Given the description of an element on the screen output the (x, y) to click on. 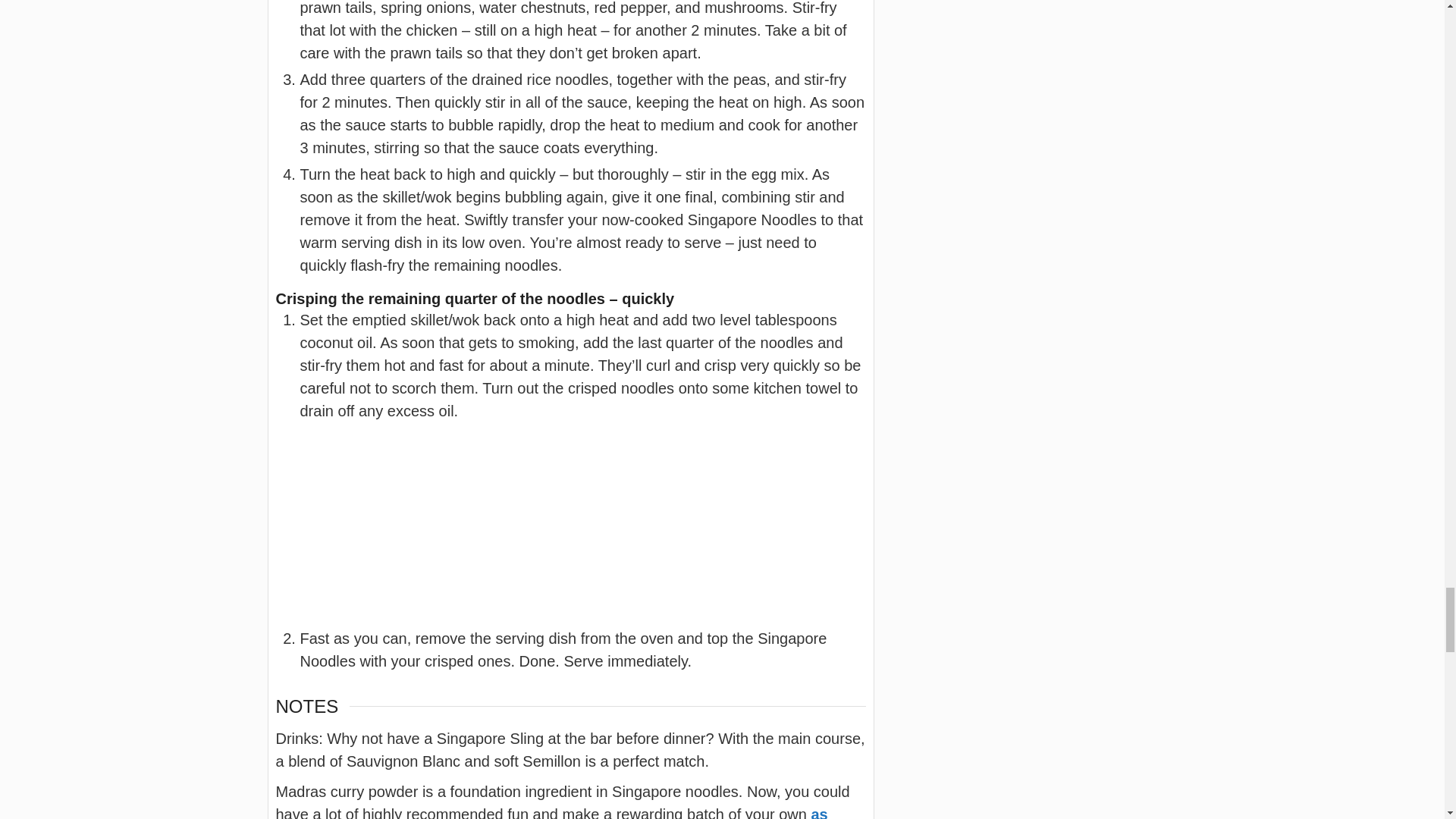
as described here (552, 812)
